Given the description of an element on the screen output the (x, y) to click on. 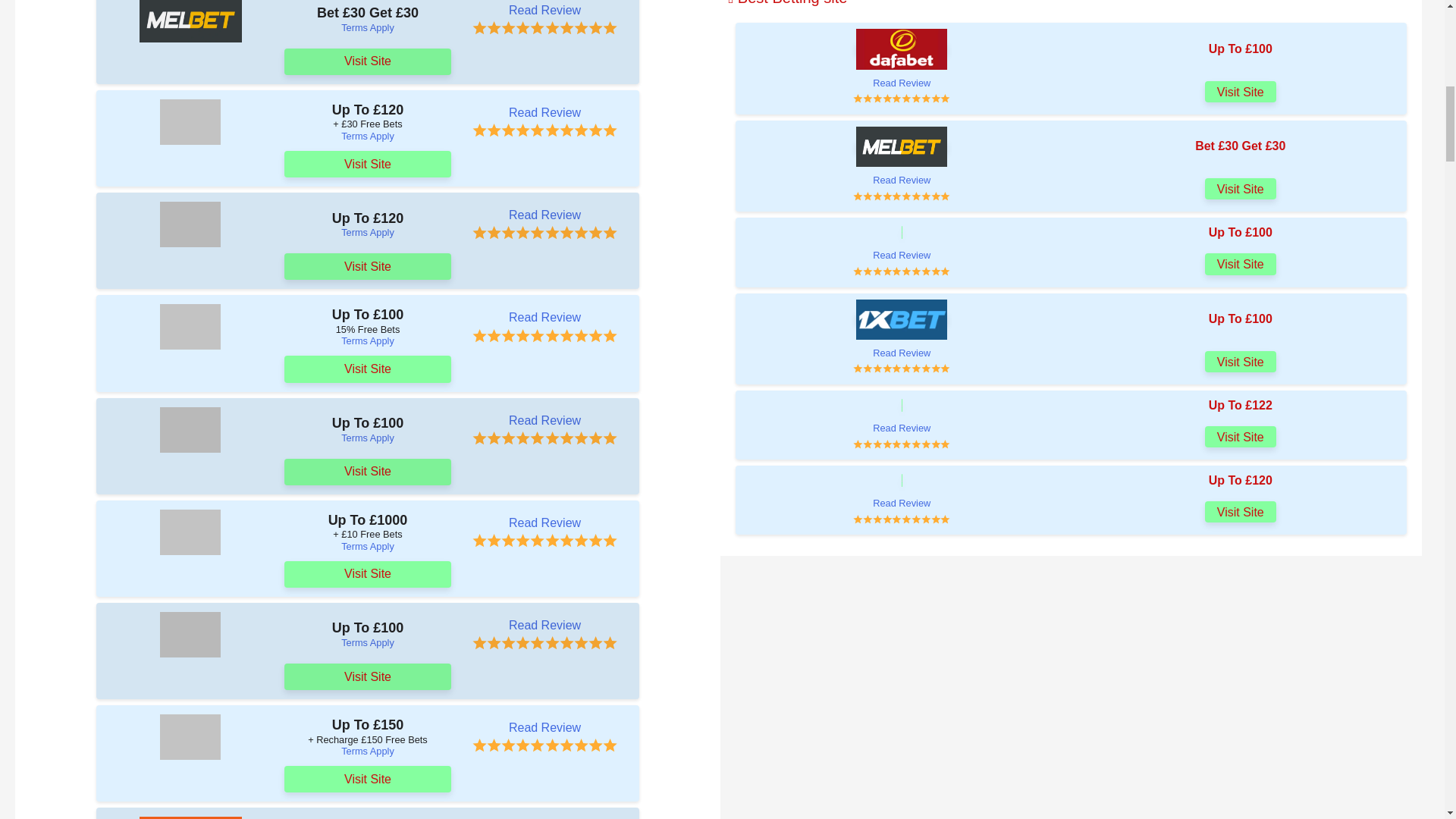
Read Review (545, 10)
Visit Site (367, 61)
Terms Apply (367, 27)
